Given the description of an element on the screen output the (x, y) to click on. 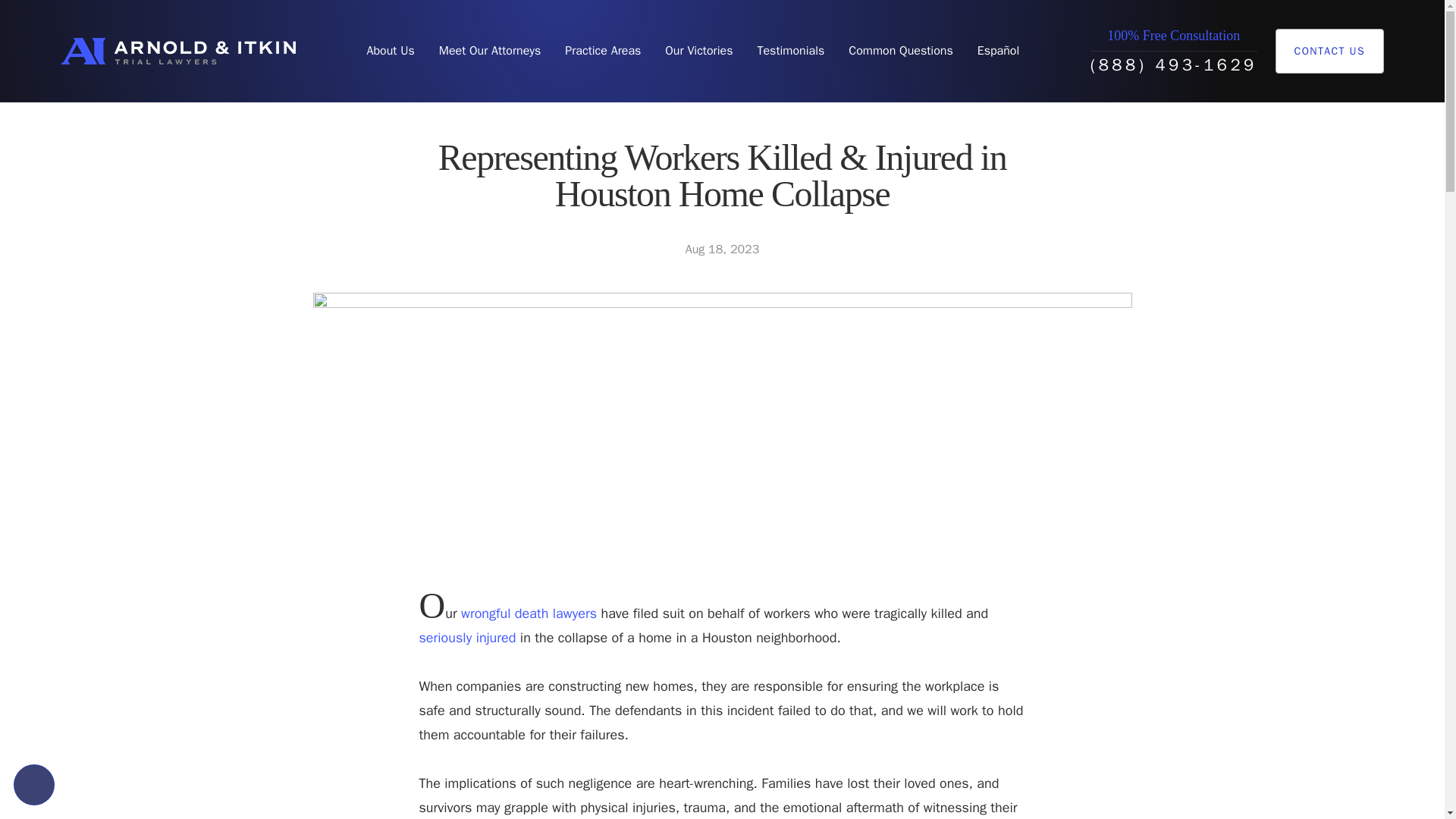
Home (178, 50)
Meet Our Attorneys (490, 51)
About Us (389, 51)
